Given the description of an element on the screen output the (x, y) to click on. 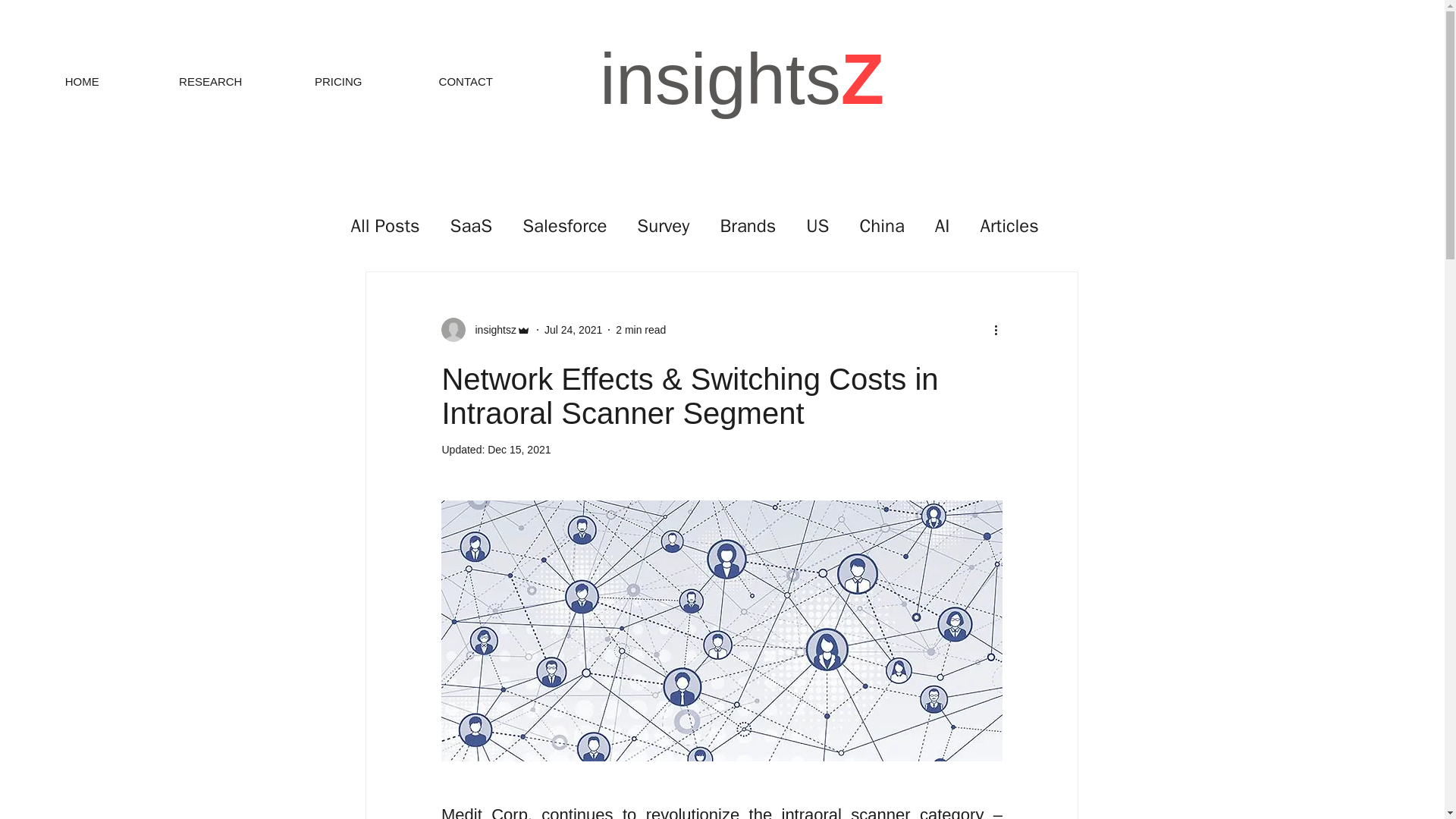
CONTACT (465, 81)
US (817, 225)
PRICING (338, 81)
Salesforce (564, 225)
Articles (1008, 225)
Jul 24, 2021 (573, 329)
HOME (82, 81)
RESEARCH (211, 81)
Dec 15, 2021 (518, 449)
Brands (747, 225)
insightsz (485, 329)
All Posts (384, 225)
SaaS (471, 225)
China (881, 225)
2 min read (640, 329)
